Given the description of an element on the screen output the (x, y) to click on. 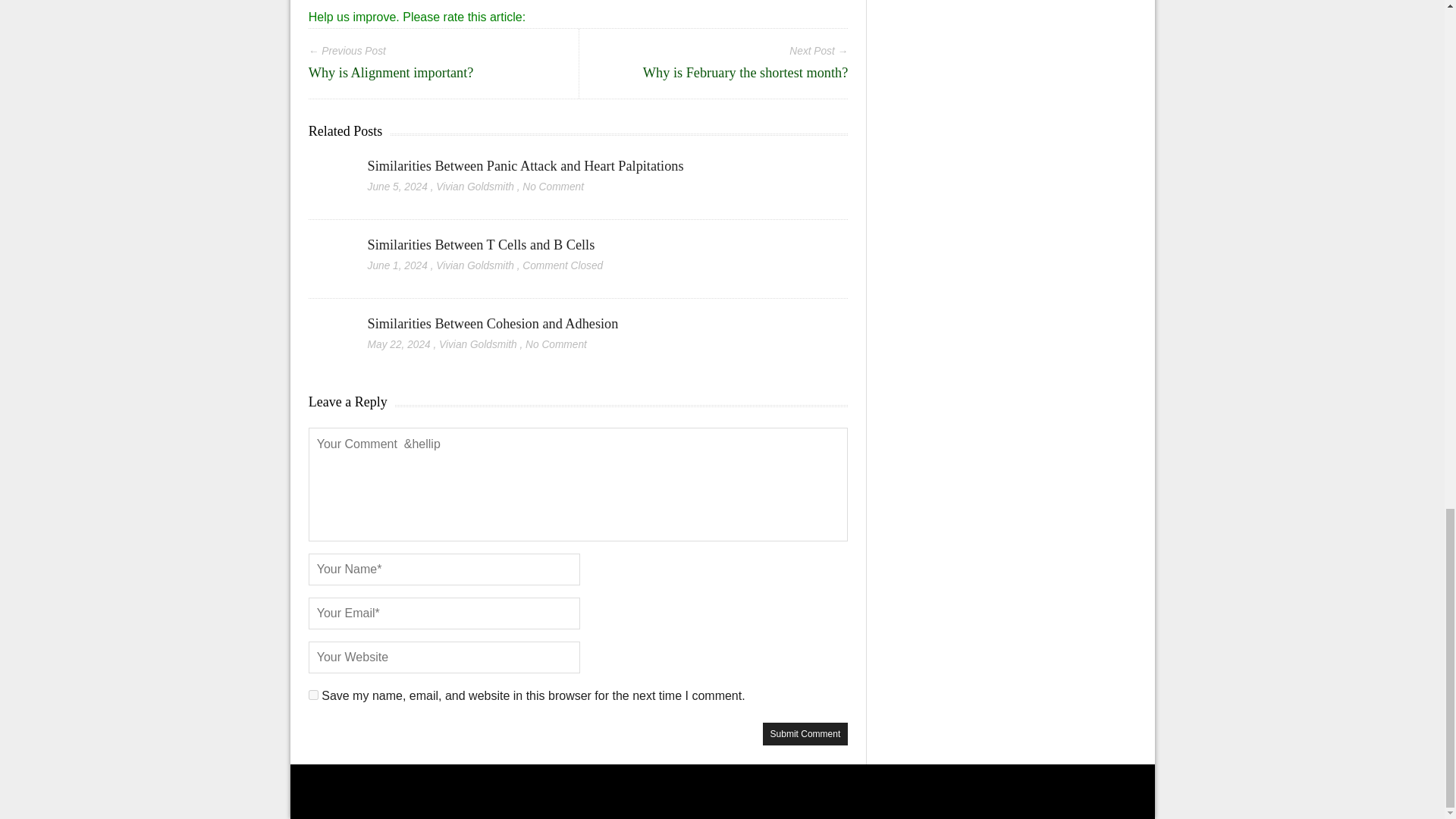
Similarities Between Cohesion and Adhesion (493, 323)
Similarities Between Cohesion and Adhesion (329, 323)
No Comment (552, 186)
Similarities Between Migraines and Tension Headaches (395, 5)
Vivian Goldsmith (474, 186)
yes (313, 695)
Posts by Vivian Goldsmith (474, 186)
Similarities Between T Cells and B Cells (481, 244)
Posts by Vivian Goldsmith (474, 265)
Similarities Between T Cells and B Cells (329, 245)
Submit Comment (805, 733)
Similarities Between Panic Attack and Heart Palpitations (329, 166)
Similarities Between Panic Attack and Heart Palpitations (526, 165)
Similarities Between T Cells and B Cells (481, 244)
Similarities Between Panic Attack and Heart Palpitations (526, 165)
